Given the description of an element on the screen output the (x, y) to click on. 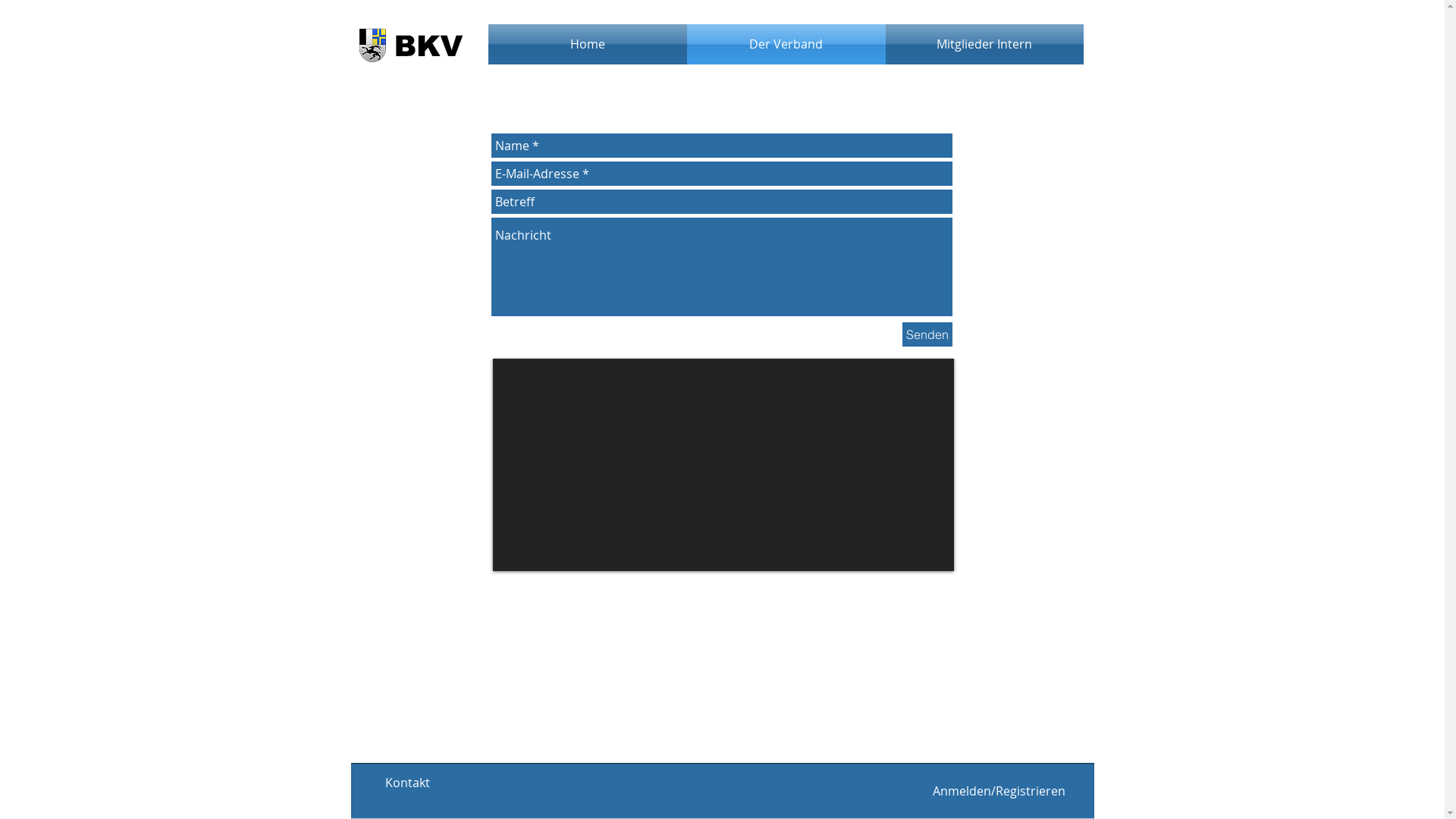
Der Verband Element type: text (786, 44)
Home Element type: text (587, 44)
Google Maps Element type: hover (722, 464)
Kontakt Element type: text (407, 782)
Mitglieder Intern Element type: text (984, 44)
logo ohne text.png Element type: hover (408, 43)
Senden Element type: text (927, 334)
Anmelden/Registrieren Element type: text (998, 790)
